Given the description of an element on the screen output the (x, y) to click on. 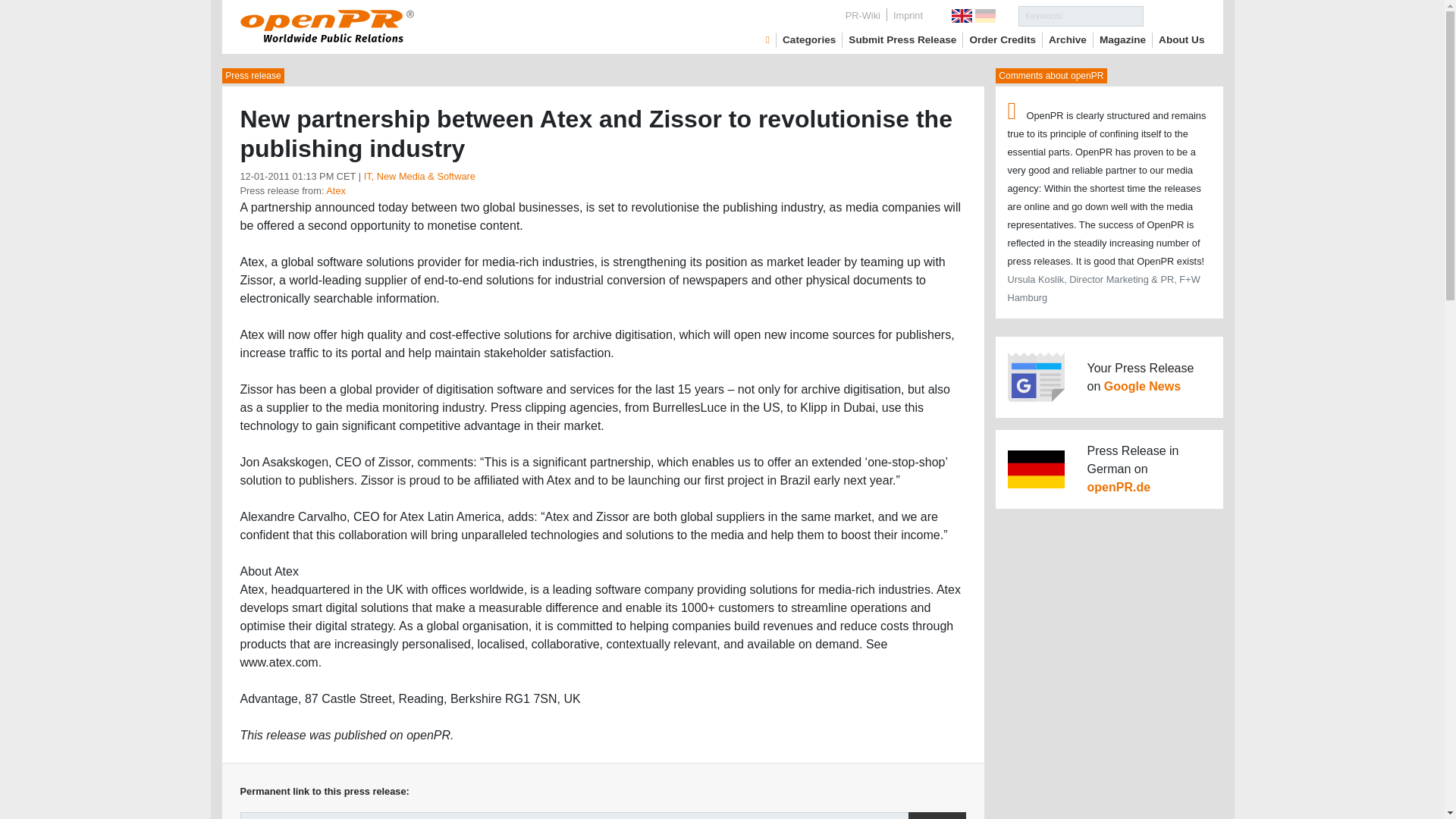
Search   (1173, 15)
Archive (1067, 39)
Magazine (1122, 39)
Submit Press Release (902, 39)
archive und pressrelease of Atex (336, 190)
PR-Wiki (863, 15)
Atex (336, 190)
Imprint (907, 15)
About Us (1181, 39)
Categories (809, 39)
